Given the description of an element on the screen output the (x, y) to click on. 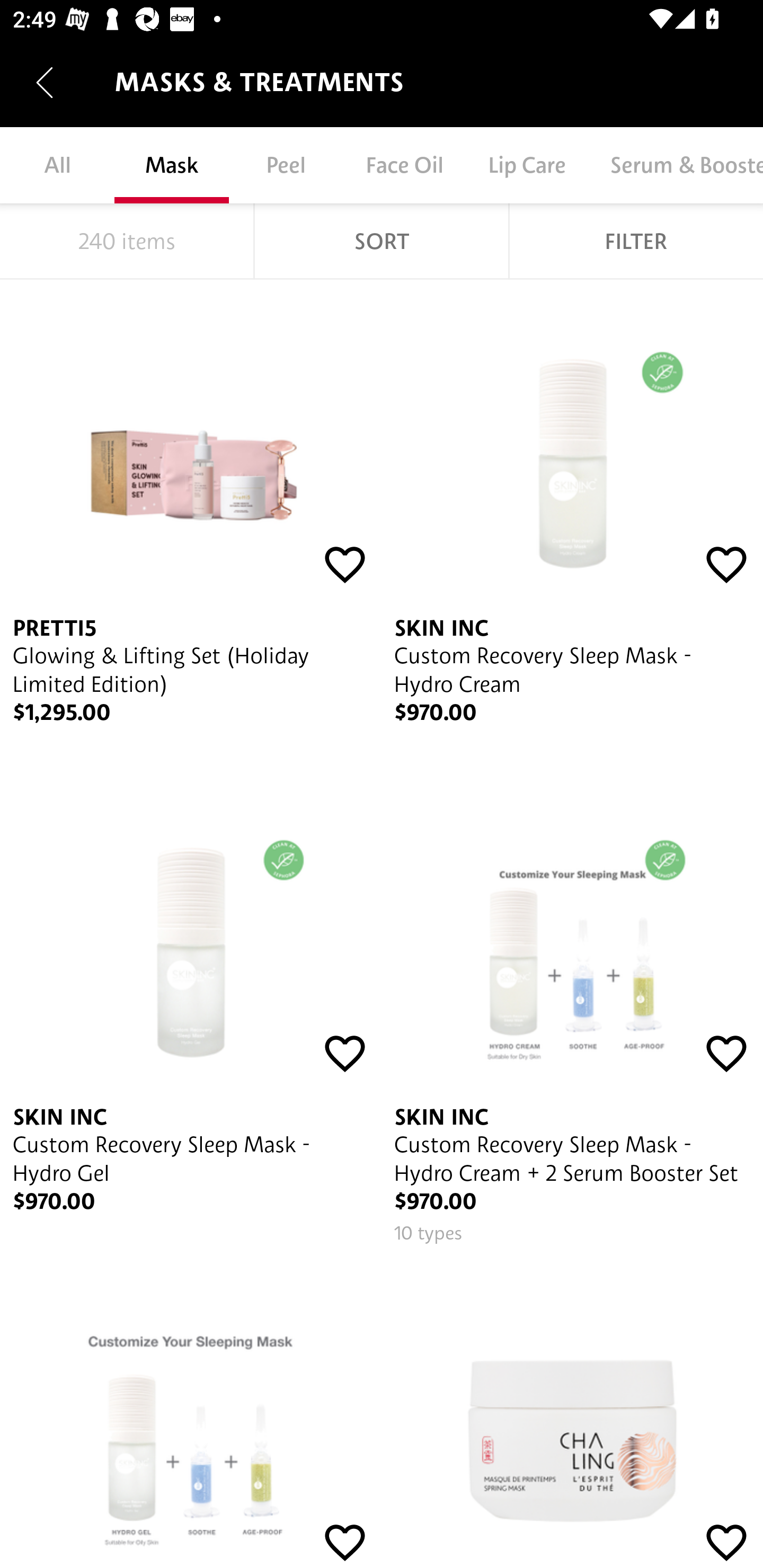
Navigate up (44, 82)
All (57, 165)
Peel (285, 165)
Face Oil (404, 165)
Lip Care (526, 165)
Serum & Booster (675, 165)
SORT (381, 241)
FILTER (636, 241)
